Given the description of an element on the screen output the (x, y) to click on. 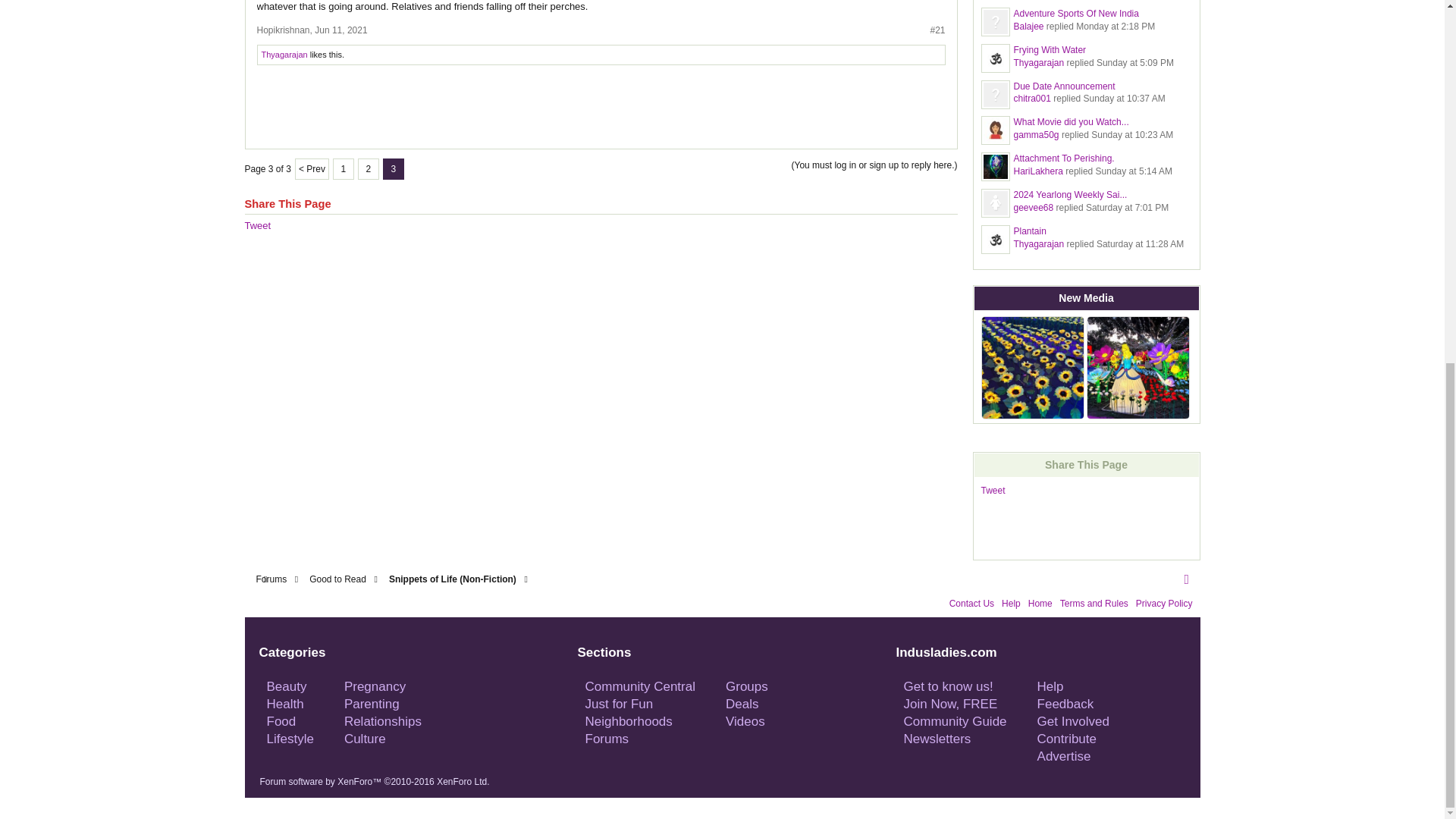
Jul 14, 2024 at 10:37 AM (1124, 98)
Permalink (937, 30)
Jul 15, 2024 at 2:18 PM (1114, 26)
Permalink (340, 30)
Jul 14, 2024 at 5:09 PM (1134, 62)
